Given the description of an element on the screen output the (x, y) to click on. 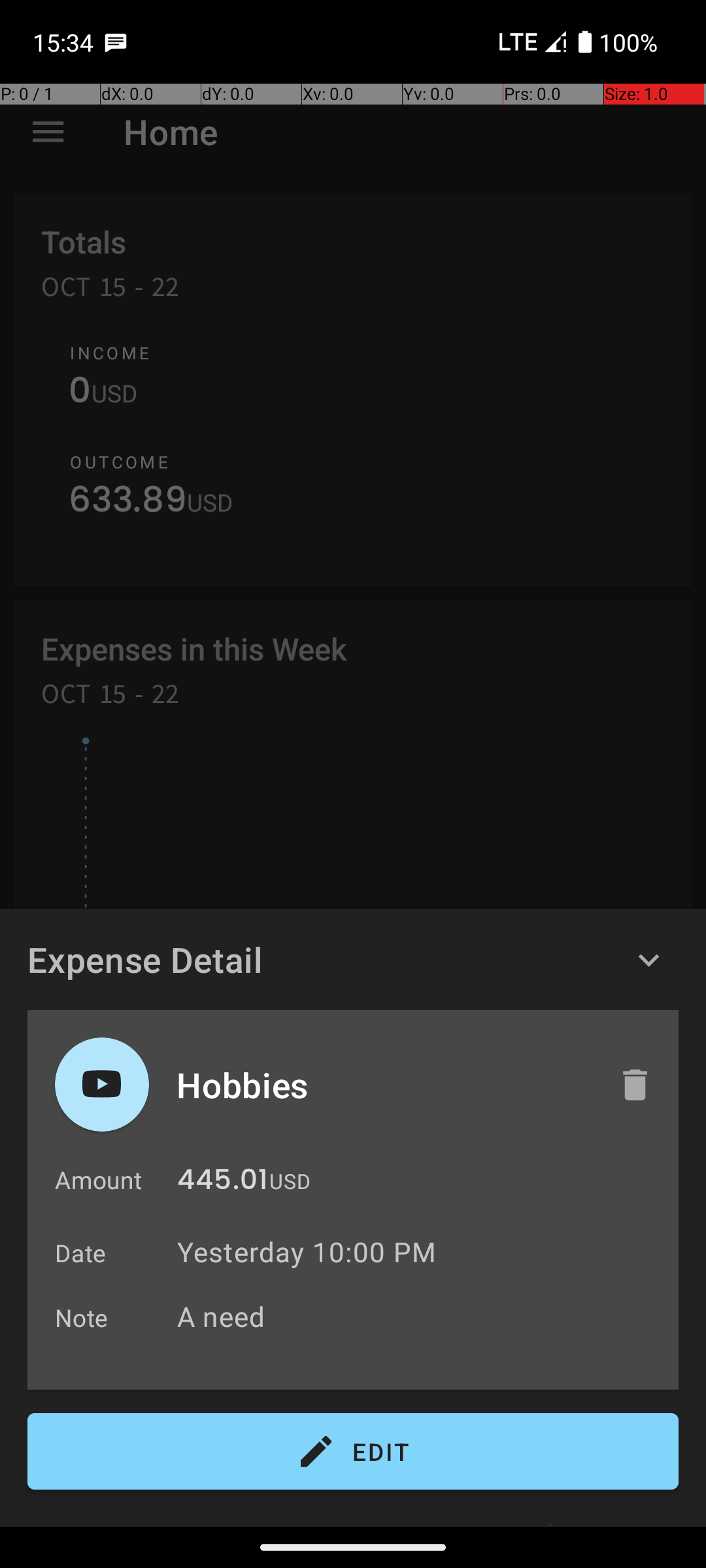
Hobbies Element type: android.widget.TextView (383, 1084)
445.01 Element type: android.widget.TextView (222, 1182)
Yesterday 10:00 PM Element type: android.widget.TextView (306, 1251)
SMS Messenger notification: Juan Alves Element type: android.widget.ImageView (115, 41)
